Given the description of an element on the screen output the (x, y) to click on. 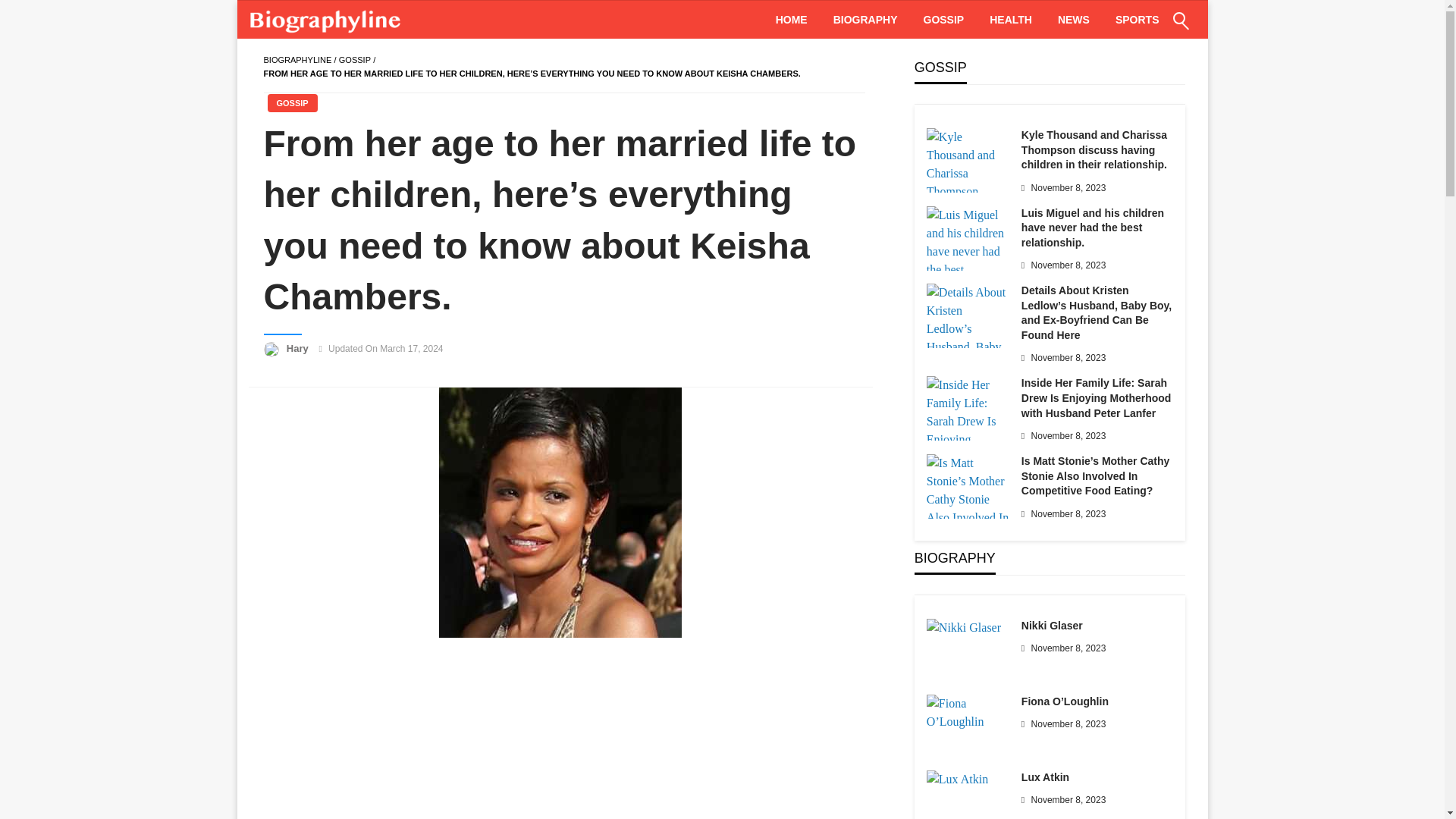
Search (1144, 30)
GOSSIP (355, 59)
BIOGRAPHYLINE (297, 59)
Biography Line (327, 19)
SPORTS (1137, 19)
Hary (298, 348)
BIOGRAPHY (866, 19)
HEALTH (1010, 19)
Hary (298, 348)
Biographyline (297, 59)
GOSSIP (943, 19)
Gossip (355, 59)
HOME (791, 19)
NEWS (1073, 19)
GOSSIP (291, 103)
